Given the description of an element on the screen output the (x, y) to click on. 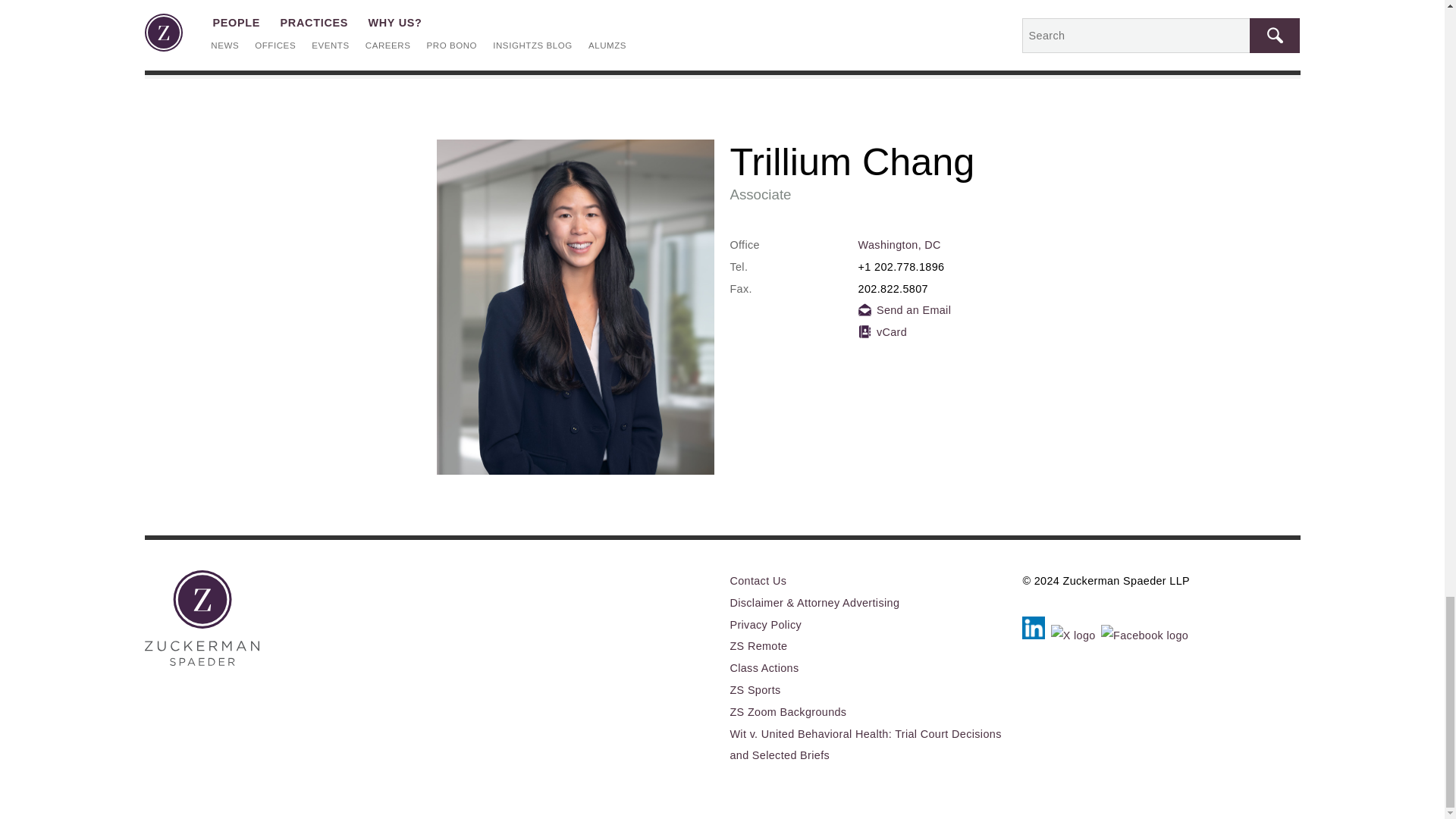
Link to Zuckerman Facebook (1145, 633)
Link to Zuckerman Twitter (1075, 633)
Link to Zuckerman LinkedIn (1035, 633)
